Given the description of an element on the screen output the (x, y) to click on. 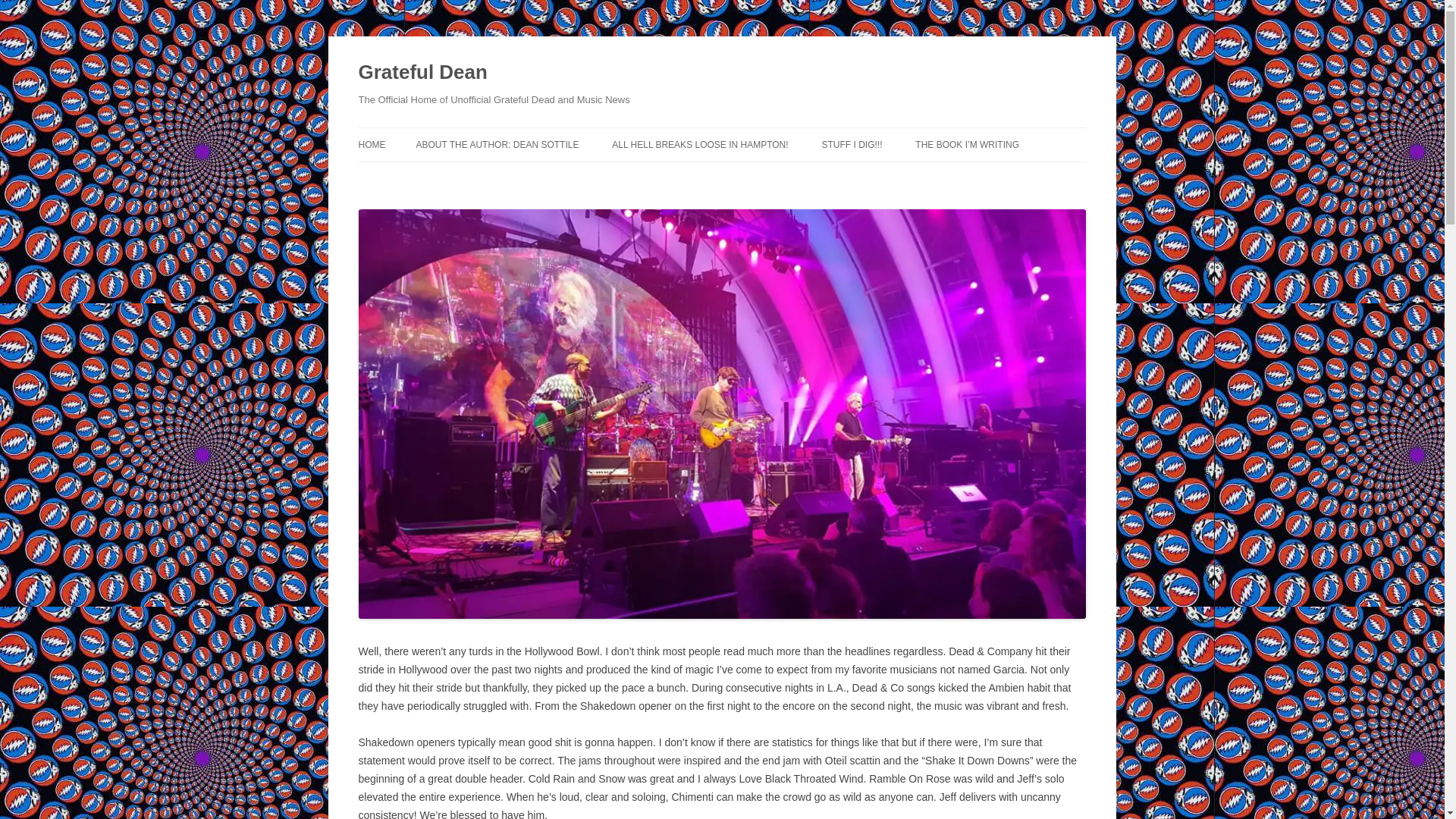
STUFF I DIG!!! (851, 144)
ALL HELL BREAKS LOOSE IN HAMPTON! (699, 144)
ABOUT THE AUTHOR: DEAN SOTTILE (496, 144)
Grateful Dean (422, 72)
